Given the description of an element on the screen output the (x, y) to click on. 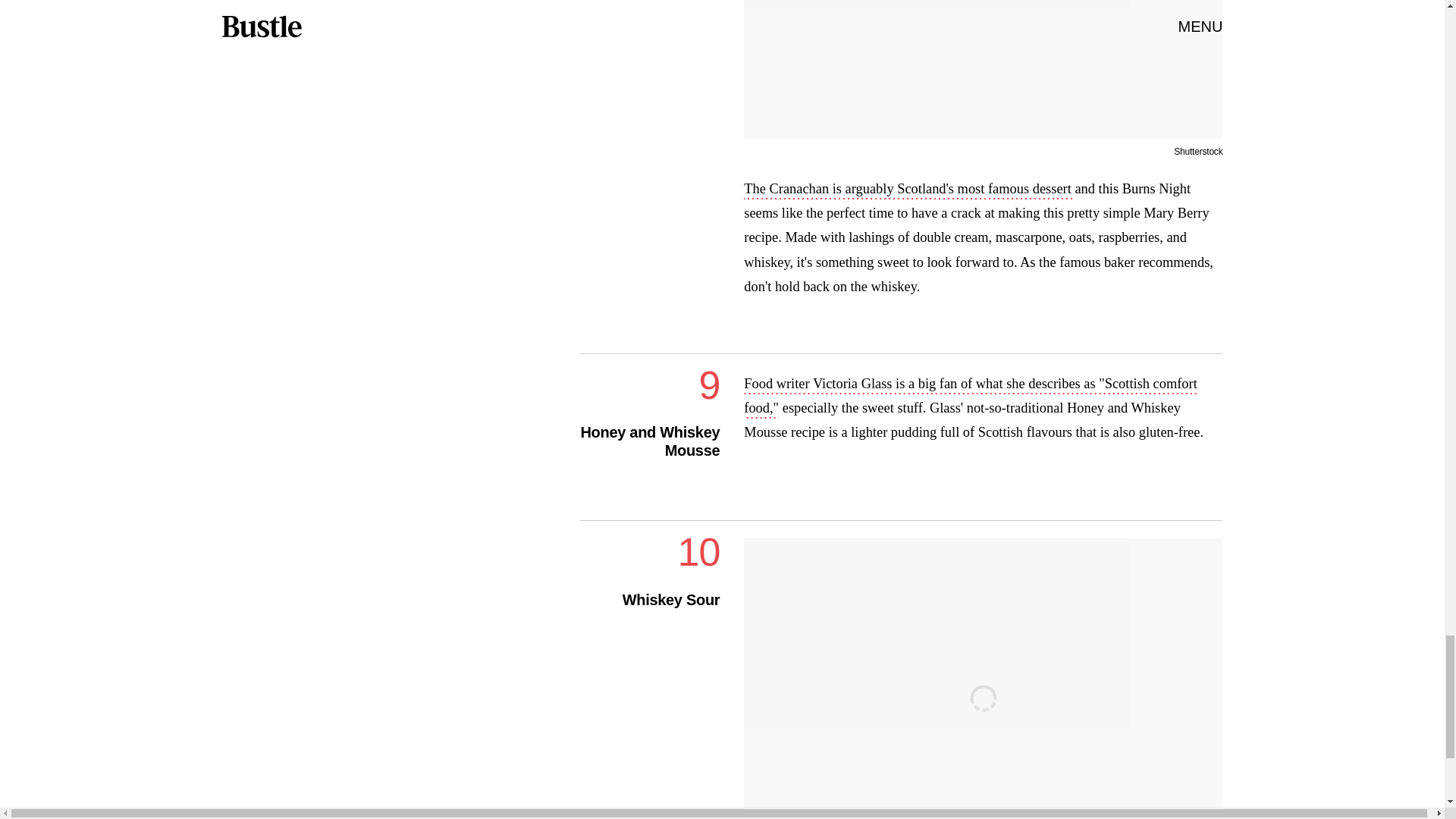
The Cranachan is arguably Scotland's most famous dessert (909, 189)
